Given the description of an element on the screen output the (x, y) to click on. 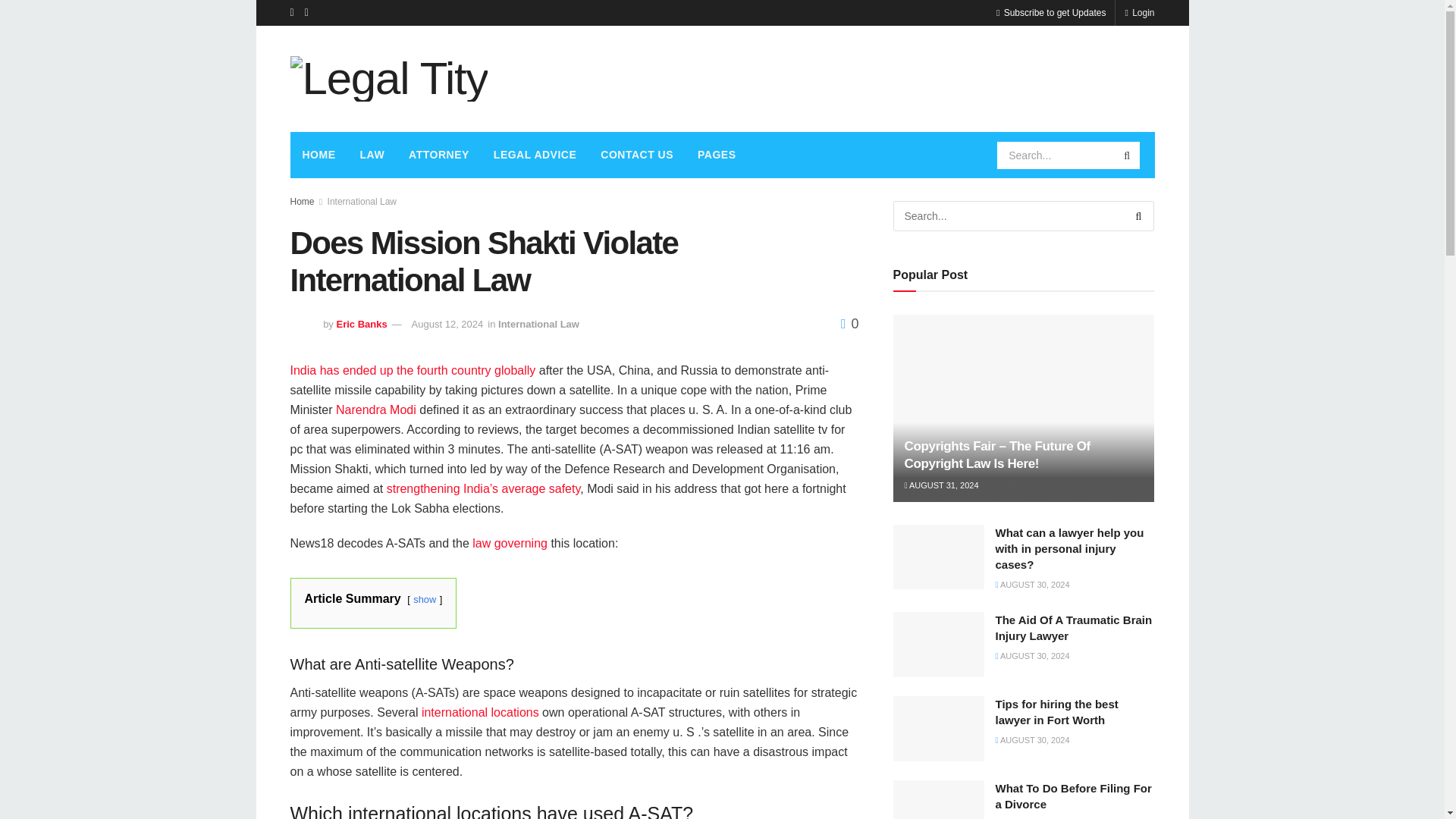
CONTACT US (636, 154)
ATTORNEY (438, 154)
Login (1139, 12)
HOME (318, 154)
Subscribe to get Updates (1050, 12)
LAW (371, 154)
LEGAL ADVICE (534, 154)
PAGES (716, 154)
